Given the description of an element on the screen output the (x, y) to click on. 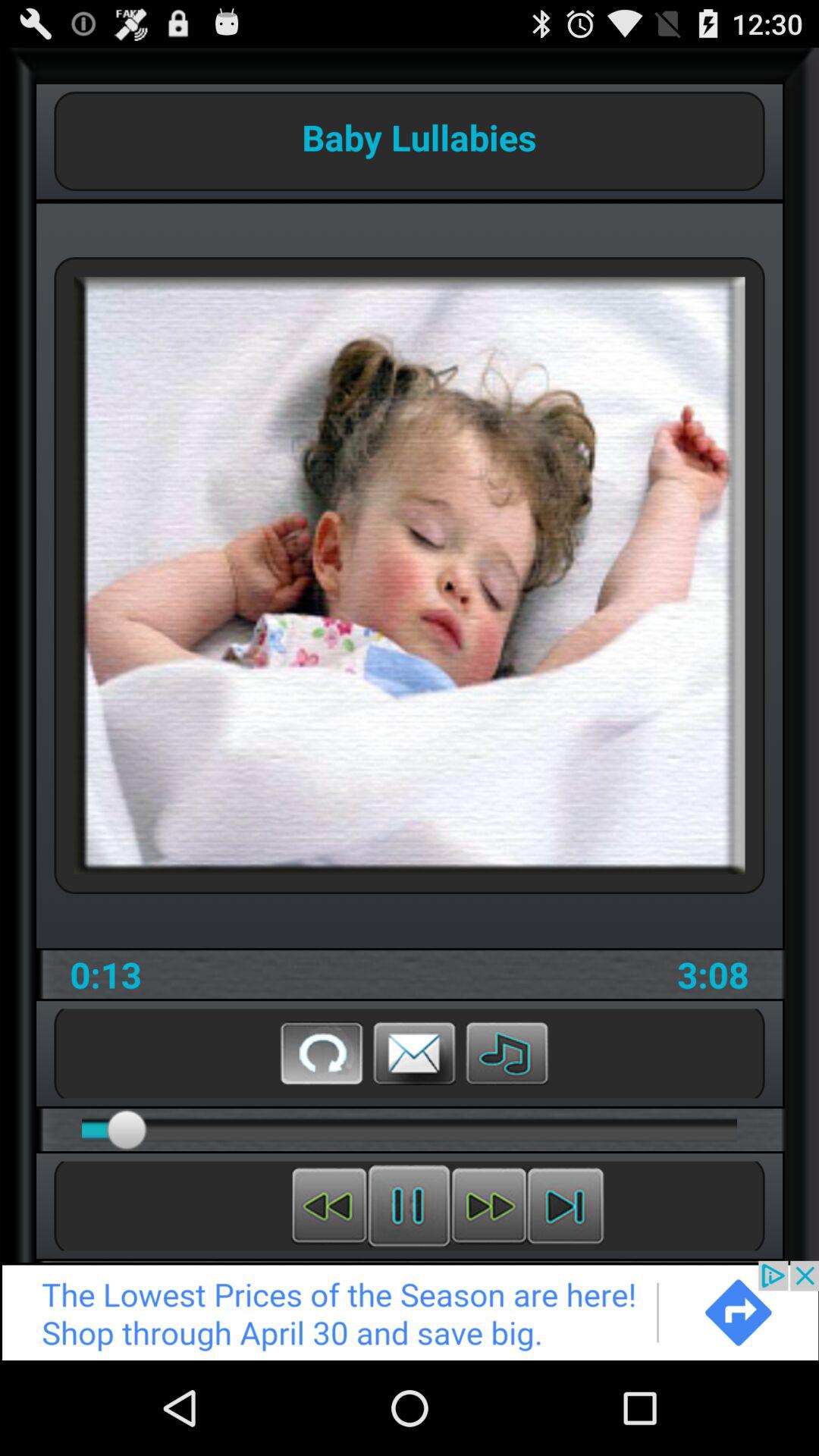
advertisement (409, 1310)
